Given the description of an element on the screen output the (x, y) to click on. 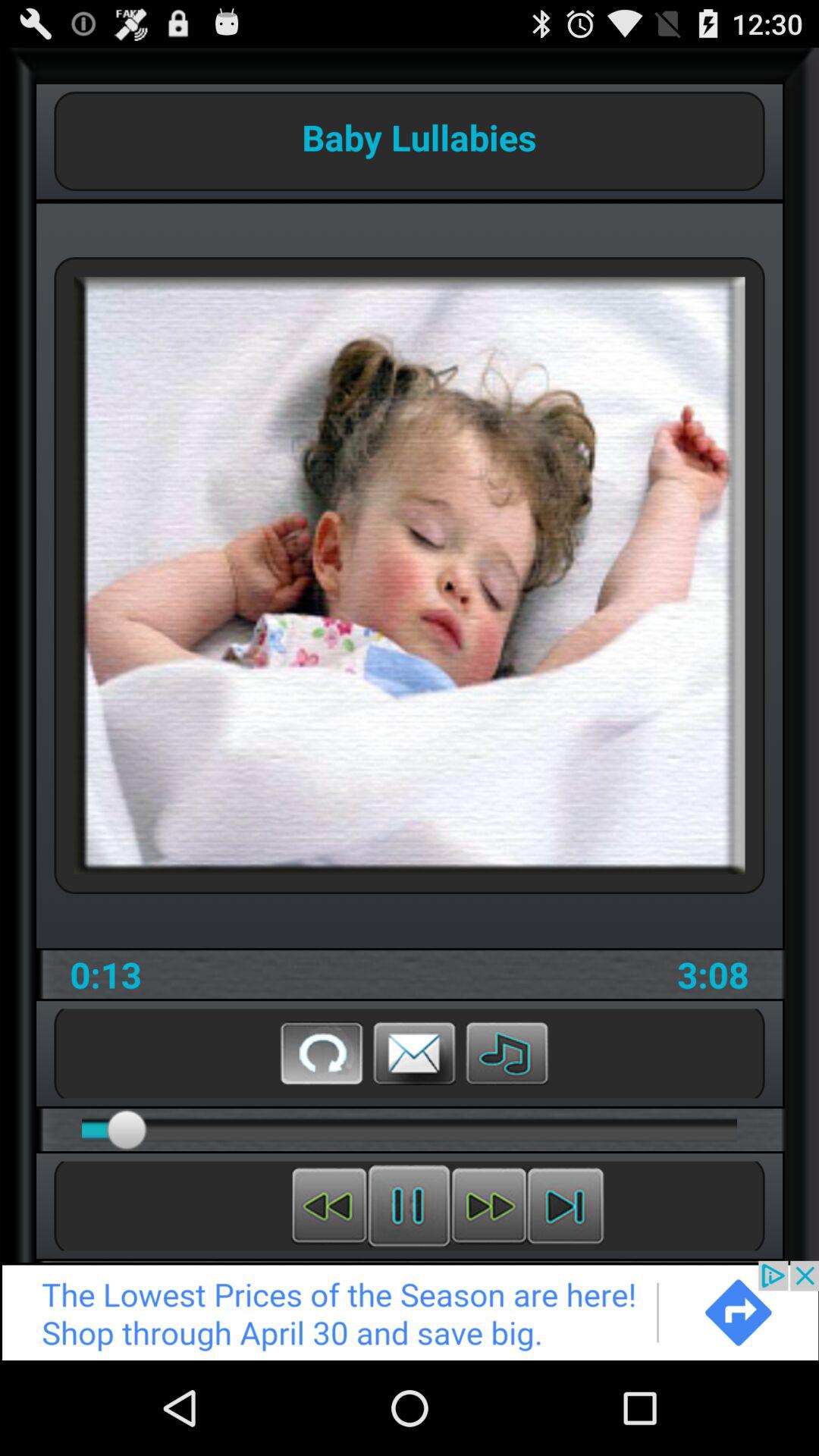
advertisement (409, 1310)
